Given the description of an element on the screen output the (x, y) to click on. 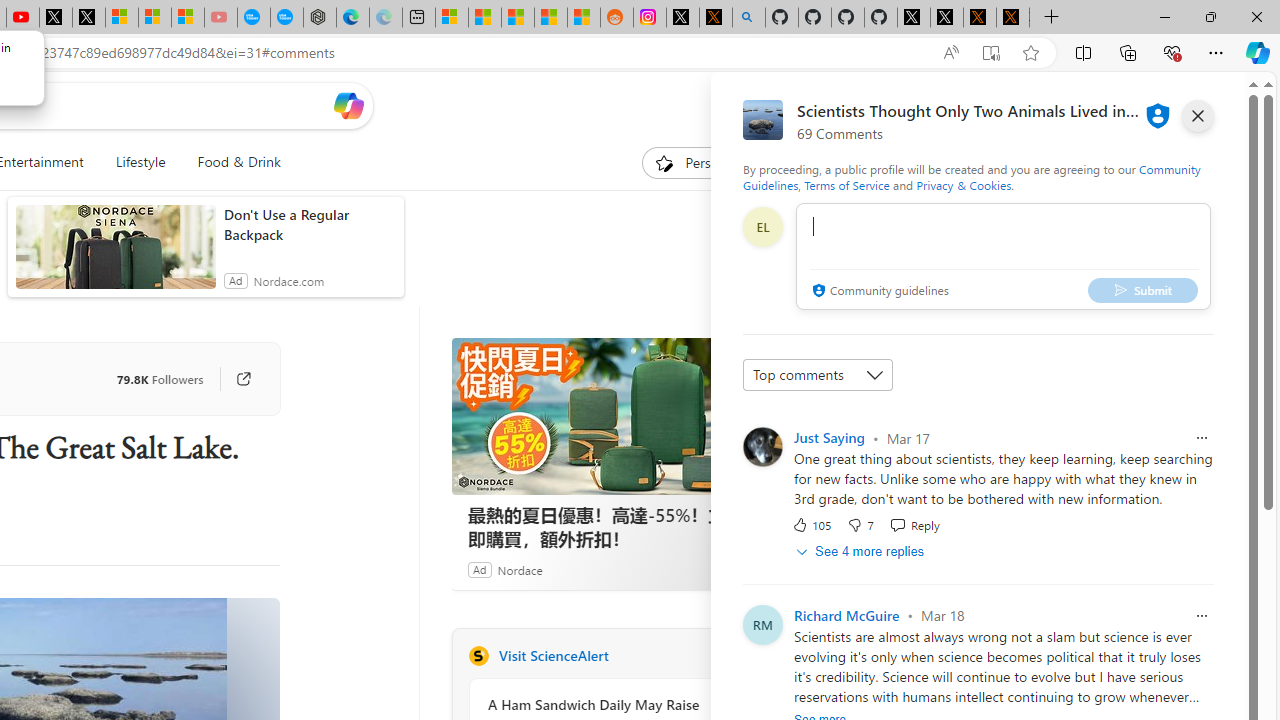
Enter Immersive Reader (F9) (991, 53)
Shanghai, China hourly forecast | Microsoft Weather (517, 17)
Just Saying (829, 437)
The most popular Google 'how to' searches (287, 17)
Lifestyle (139, 162)
Profile Picture (762, 446)
Food & Drink (239, 162)
help.x.com | 524: A timeout occurred (716, 17)
Reply Reply Comment (914, 524)
